Given the description of an element on the screen output the (x, y) to click on. 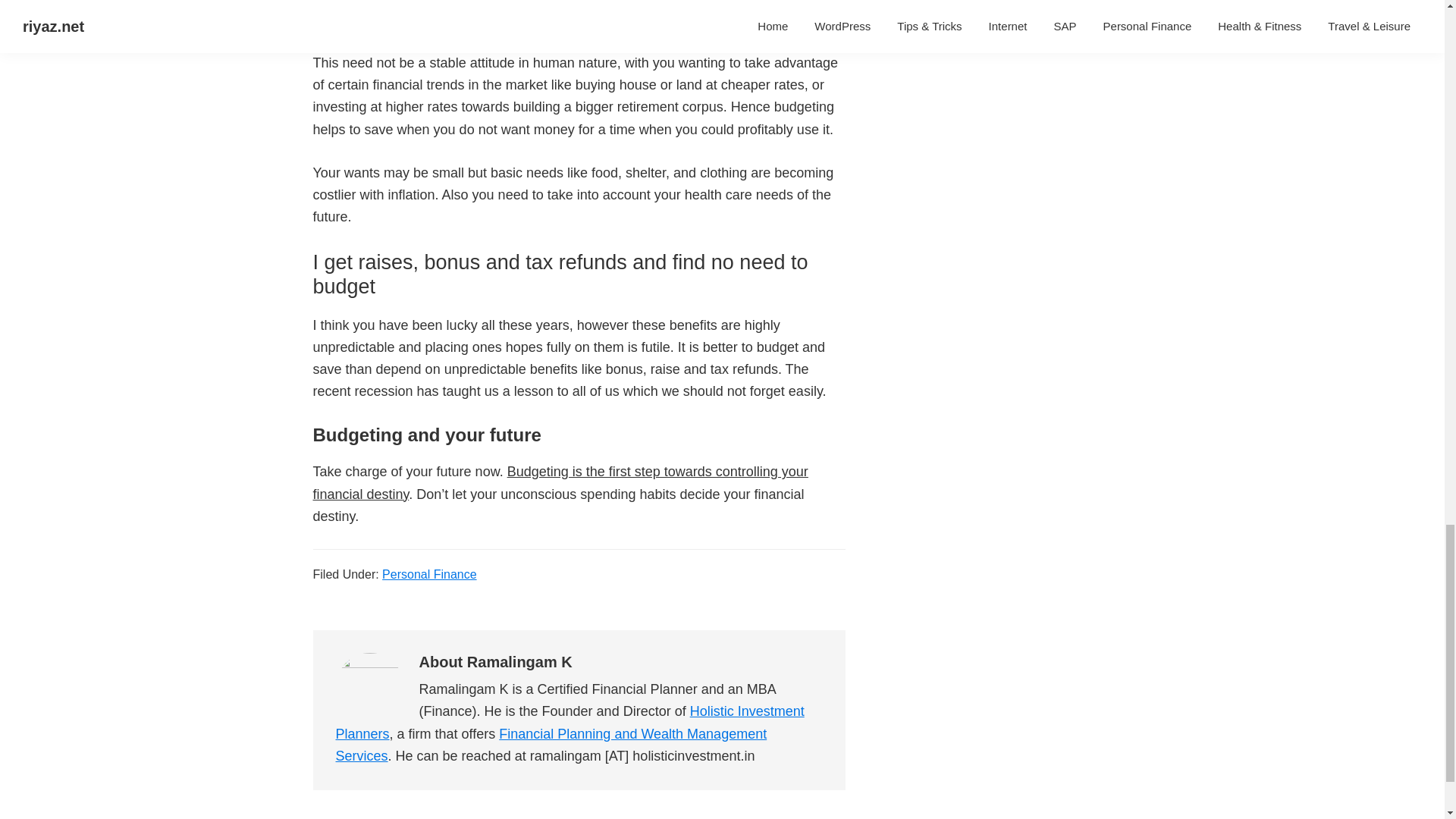
Holistic Investment Planners (568, 722)
Financial Planning and Wealth Management Services (550, 744)
Personal Finance (429, 574)
